Given the description of an element on the screen output the (x, y) to click on. 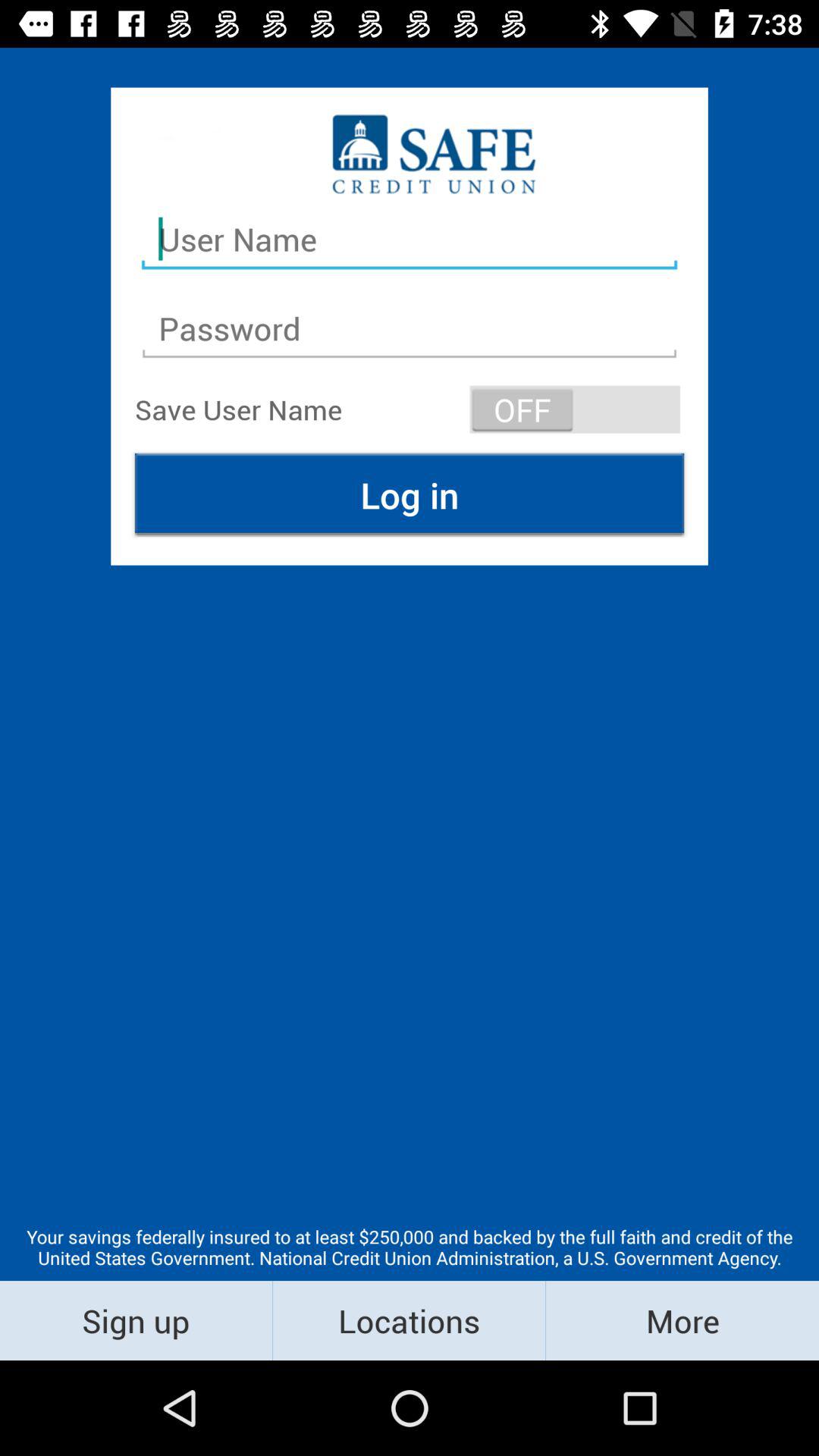
turn off the item at the top right corner (574, 409)
